Given the description of an element on the screen output the (x, y) to click on. 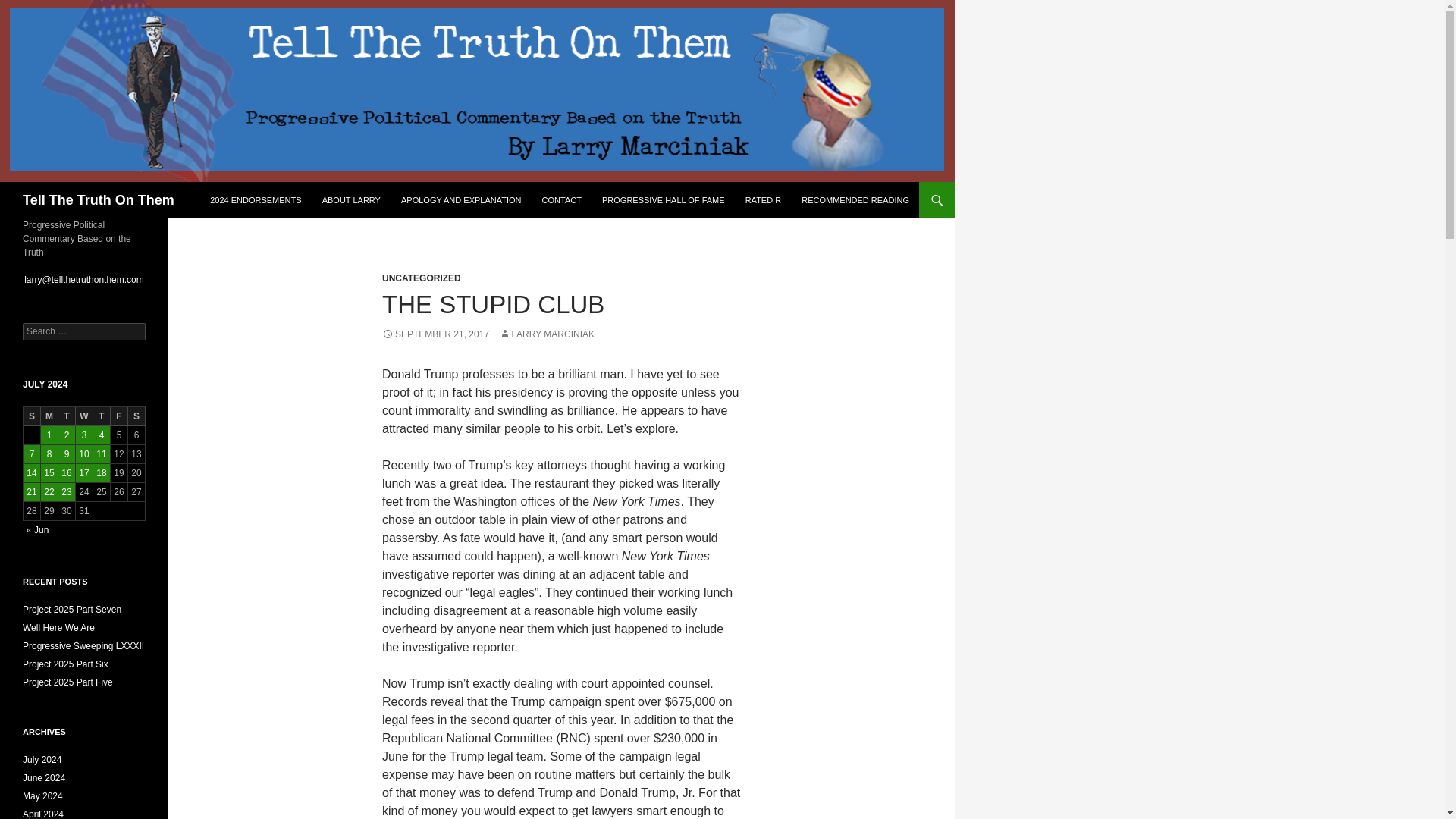
Saturday (136, 416)
ABOUT LARRY (351, 199)
PROGRESSIVE HALL OF FAME (662, 199)
APOLOGY AND EXPLANATION (461, 199)
SEPTEMBER 21, 2017 (435, 334)
Friday (119, 416)
Sunday (31, 416)
2024 ENDORSEMENTS (255, 199)
RATED R (763, 199)
RECOMMENDED READING (855, 199)
Thursday (101, 416)
Tuesday (66, 416)
CONTACT (561, 199)
LARRY MARCINIAK (546, 334)
